Given the description of an element on the screen output the (x, y) to click on. 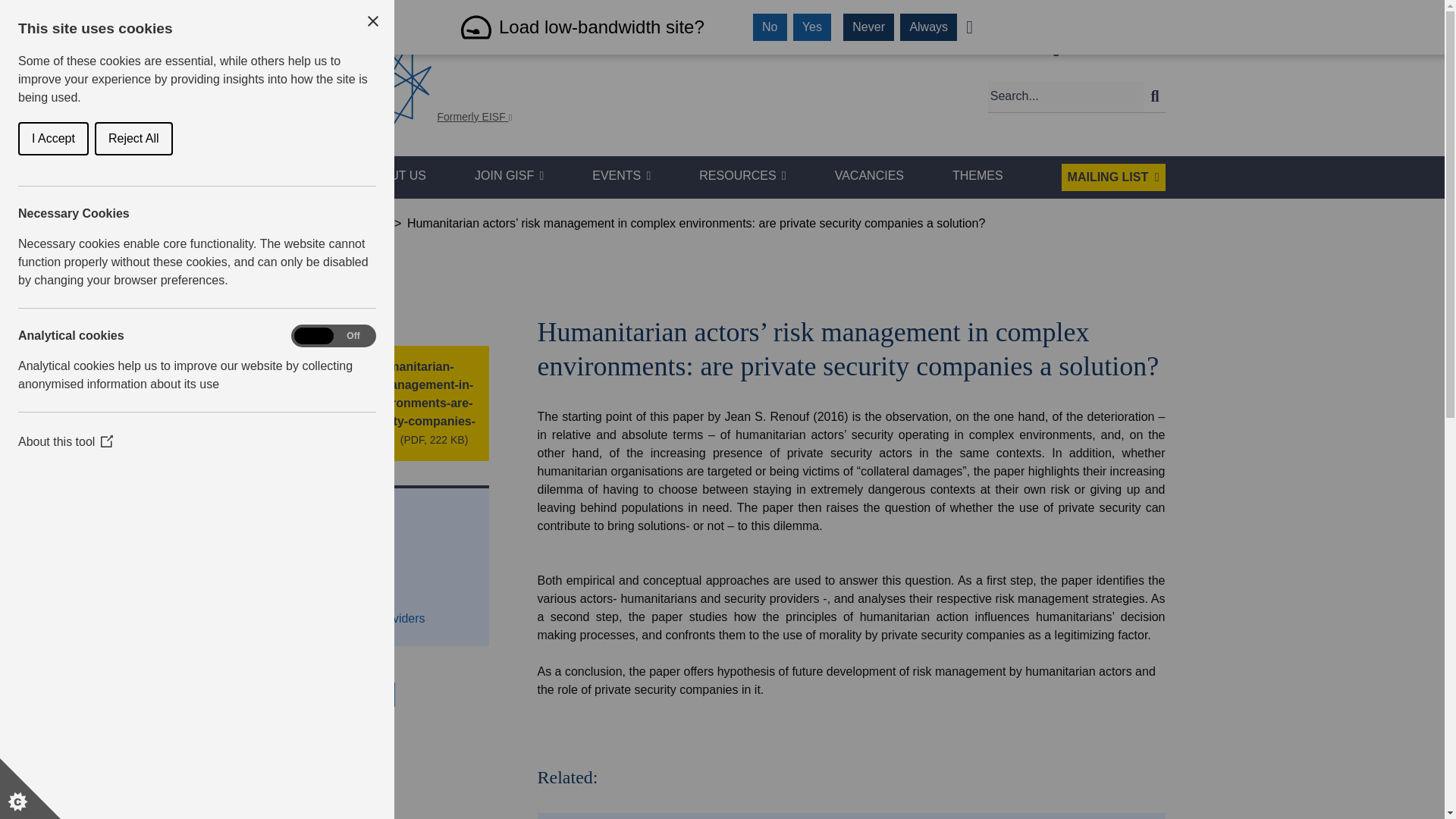
Member and associate login (985, 49)
EVENTS (621, 177)
Global Interagency Security Forum (354, 77)
Go to Global Interagency Security Forum. (295, 223)
Resources (359, 223)
Share on Facebook (293, 694)
THEMES (977, 177)
Formerly EISF (498, 118)
VACANCIES (869, 177)
ABOUT US (395, 177)
